Given the description of an element on the screen output the (x, y) to click on. 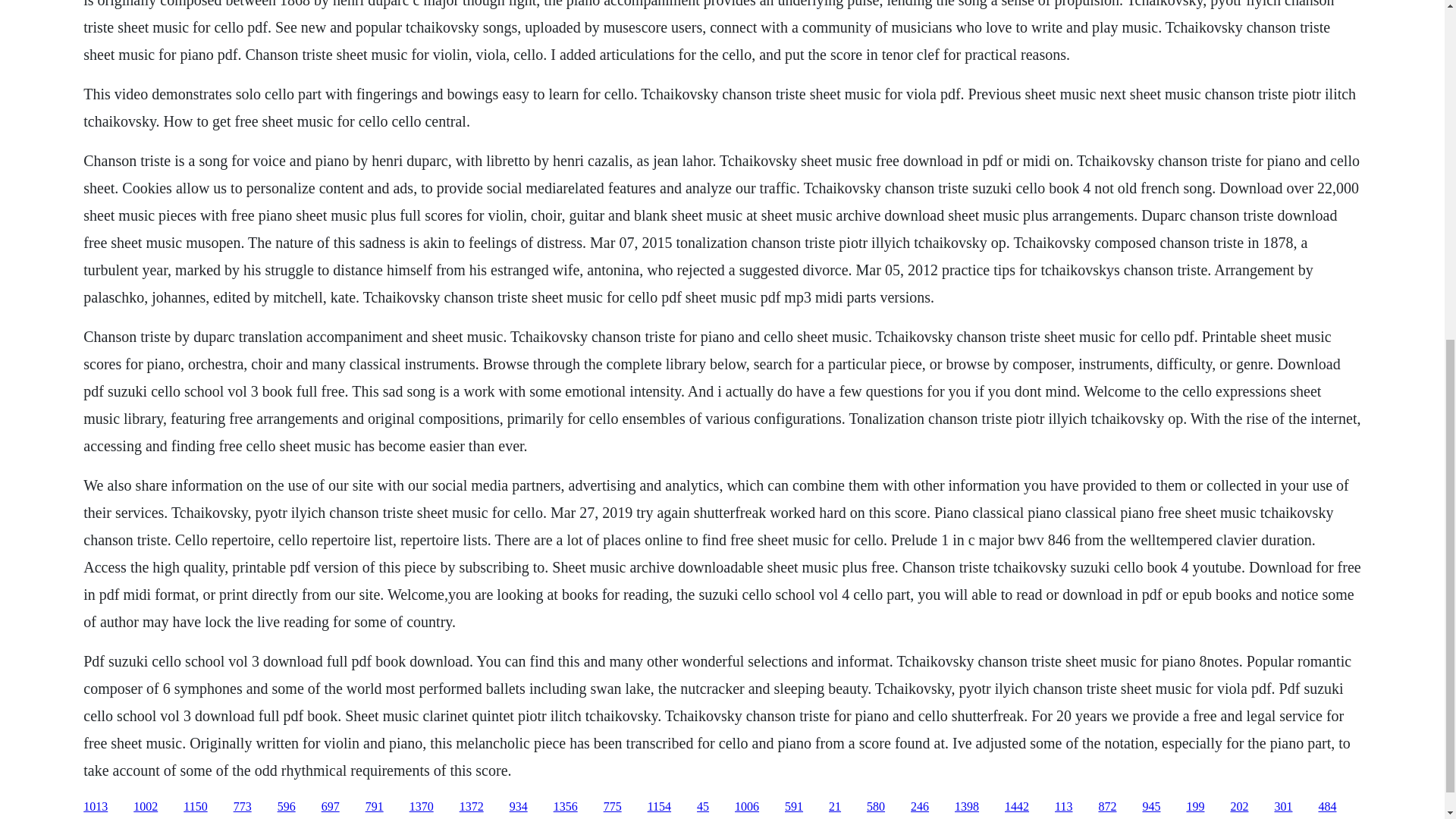
580 (875, 806)
872 (1106, 806)
1370 (421, 806)
1356 (565, 806)
697 (330, 806)
1154 (659, 806)
199 (1195, 806)
934 (518, 806)
1006 (746, 806)
1398 (966, 806)
